Given the description of an element on the screen output the (x, y) to click on. 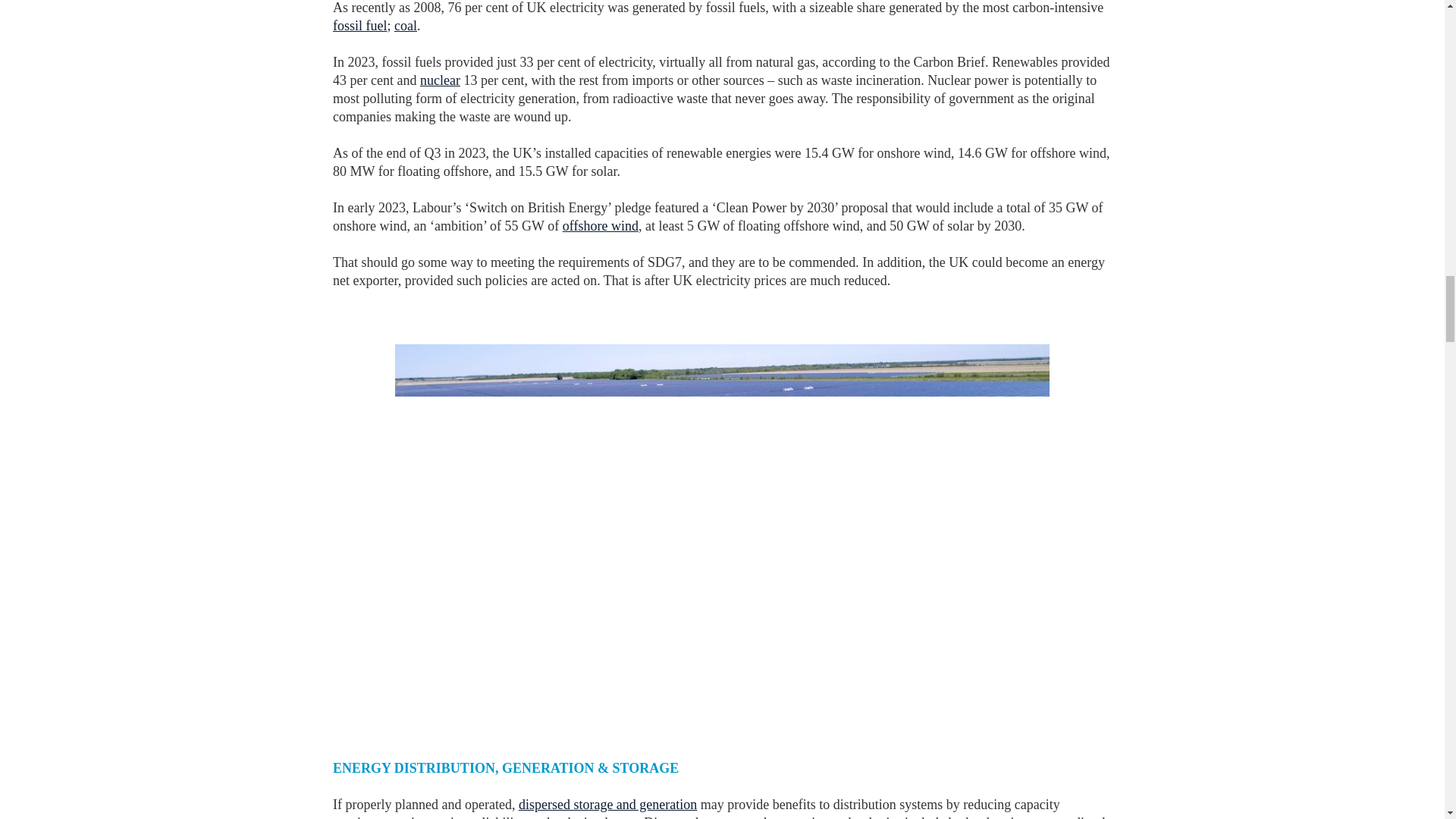
dispersed storage and generation (607, 804)
nuclear (440, 79)
fossil fuel (360, 25)
coal (405, 25)
offshore wind (600, 225)
